Given the description of an element on the screen output the (x, y) to click on. 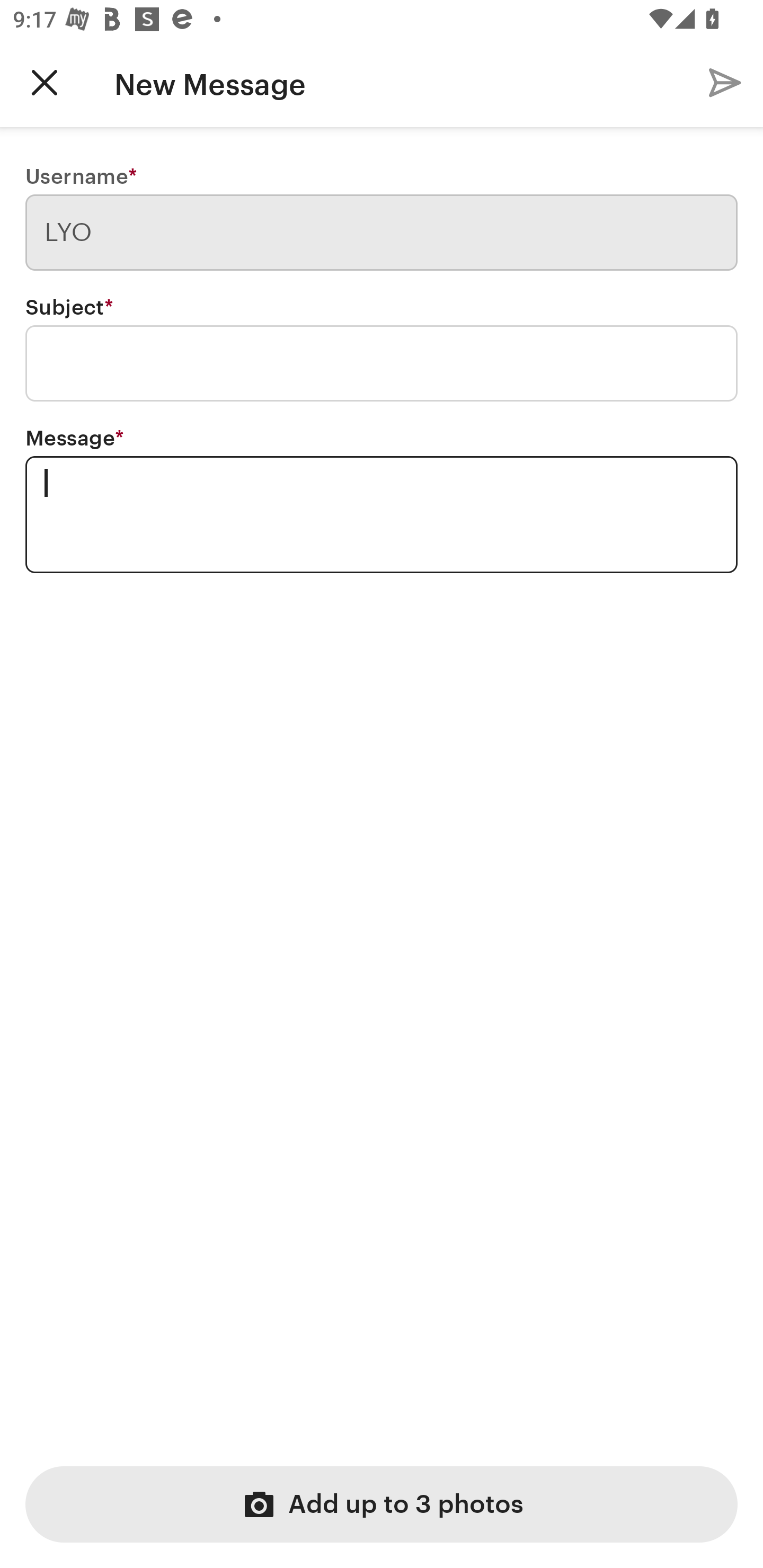
Close (44, 82)
Contact Shop (648, 81)
Send (724, 81)
LYO (381, 232)
Add up to 3 photos (381, 1504)
